Given the description of an element on the screen output the (x, y) to click on. 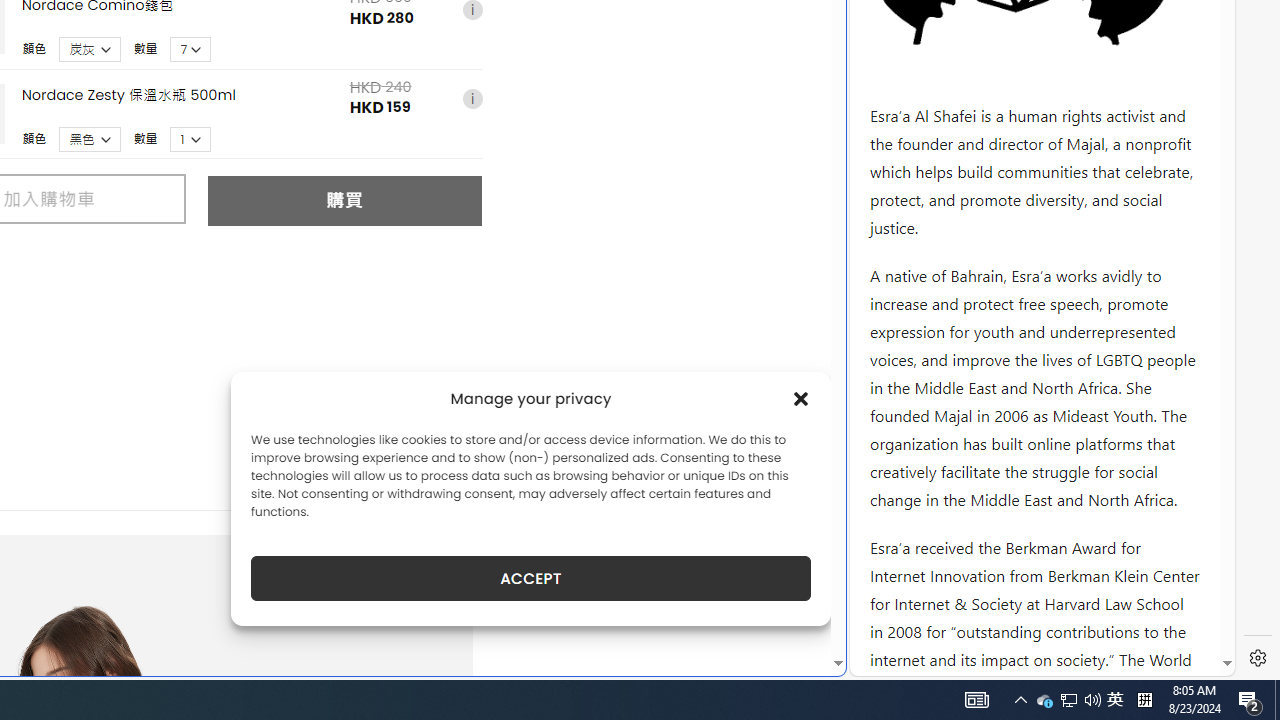
Global web icon (888, 663)
Actions for this site (1129, 306)
MSN (687, 223)
google_privacy_policy_zh-CN.pdf (687, 482)
Class: cmplz-close (801, 398)
Class: upsell-v2-product-upsell-variable-product-qty-select (191, 139)
Favorites (343, 482)
ACCEPT (530, 578)
i (472, 99)
